Given the description of an element on the screen output the (x, y) to click on. 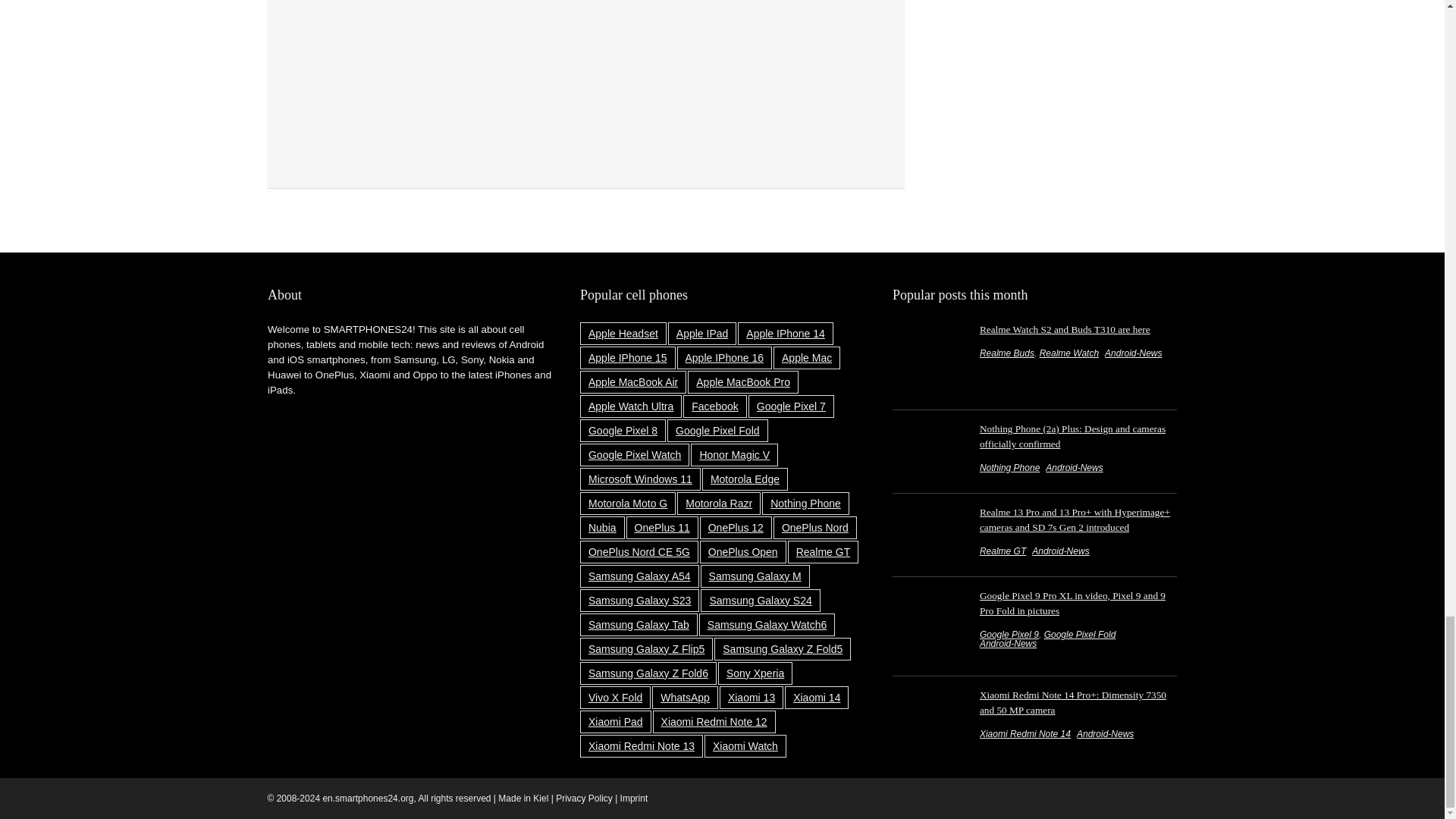
Comment Form (585, 81)
